Given the description of an element on the screen output the (x, y) to click on. 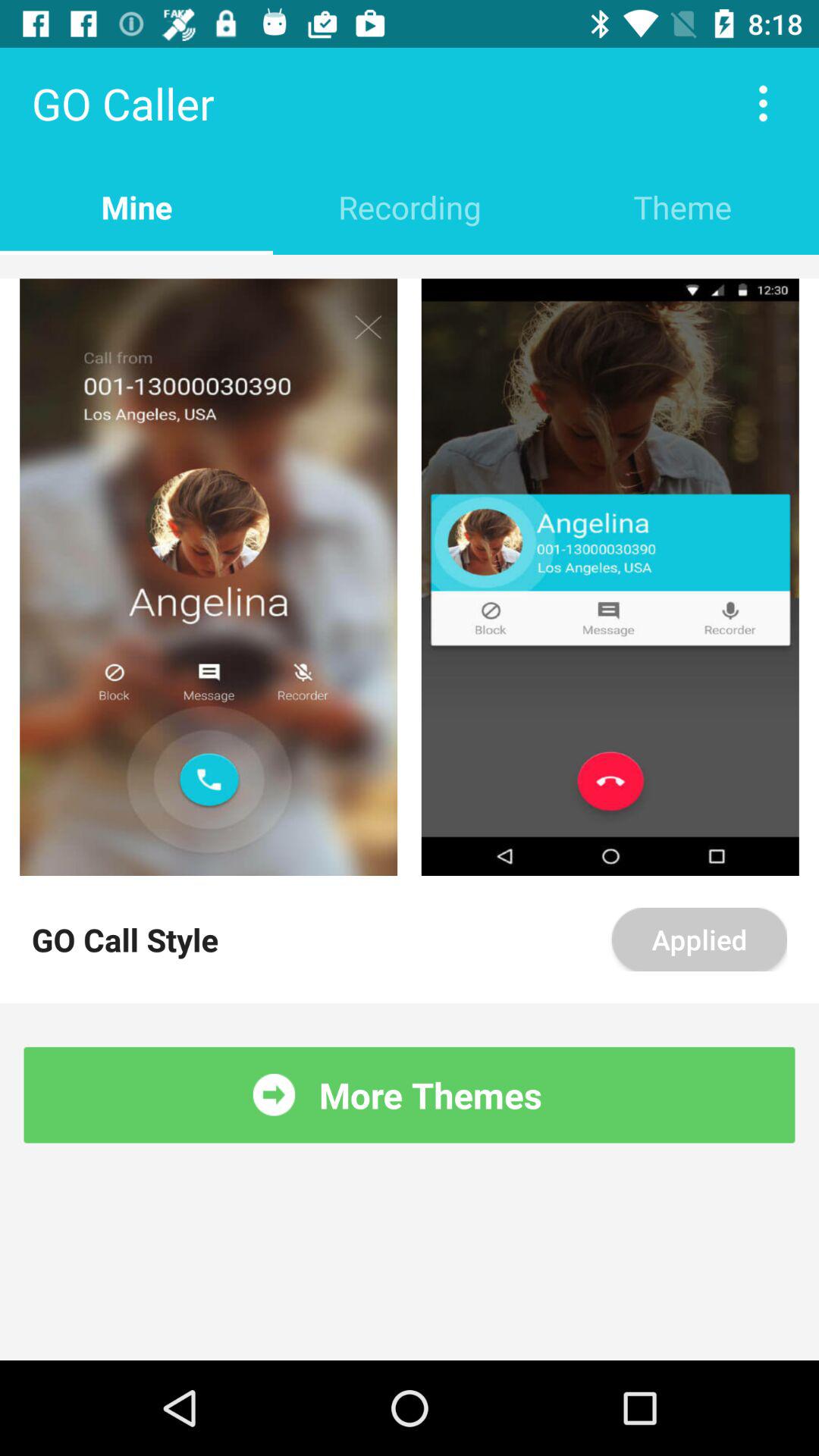
turn off the icon above go call style item (208, 576)
